Given the description of an element on the screen output the (x, y) to click on. 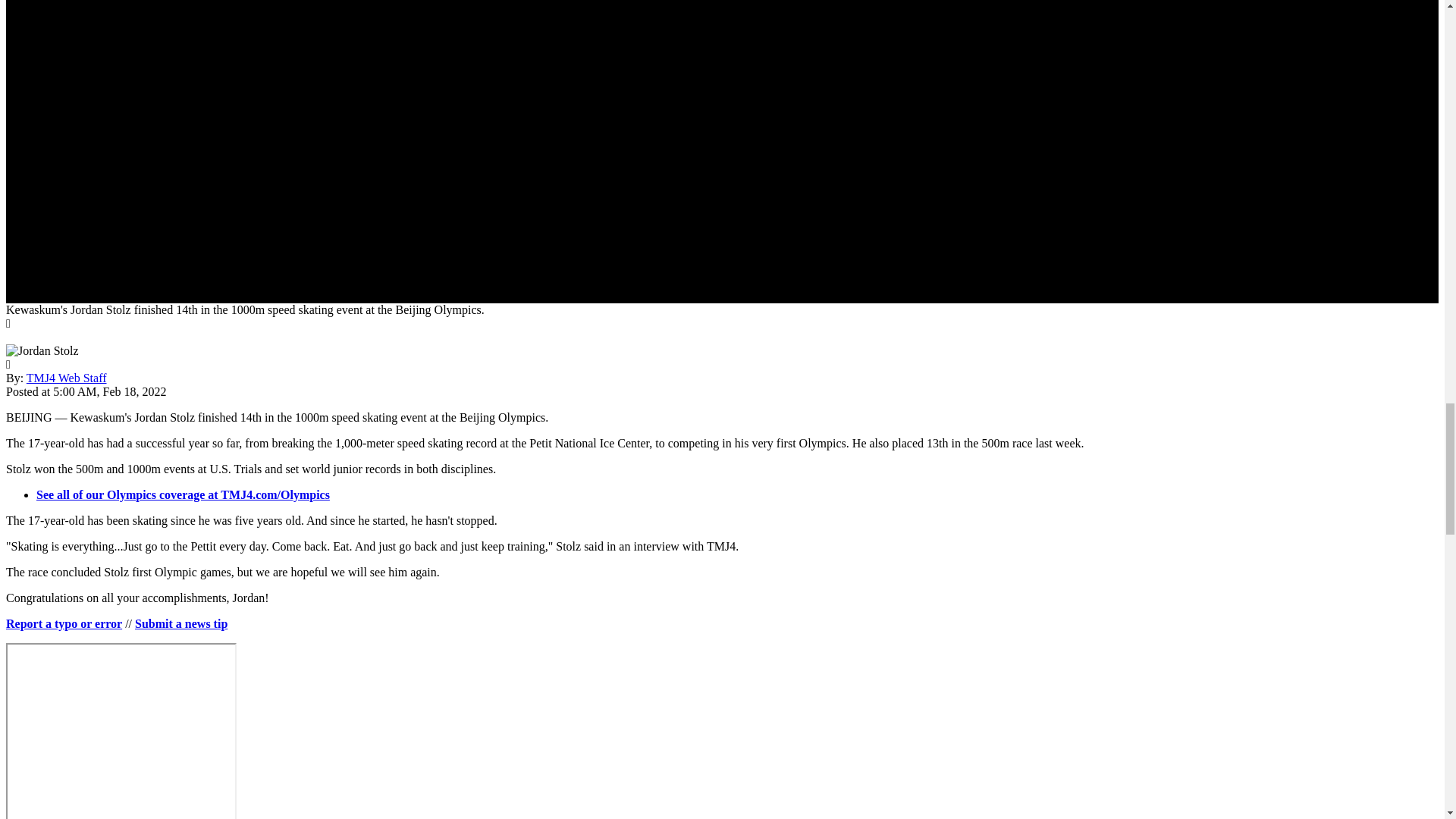
Olympics programming schedule (120, 730)
